Given the description of an element on the screen output the (x, y) to click on. 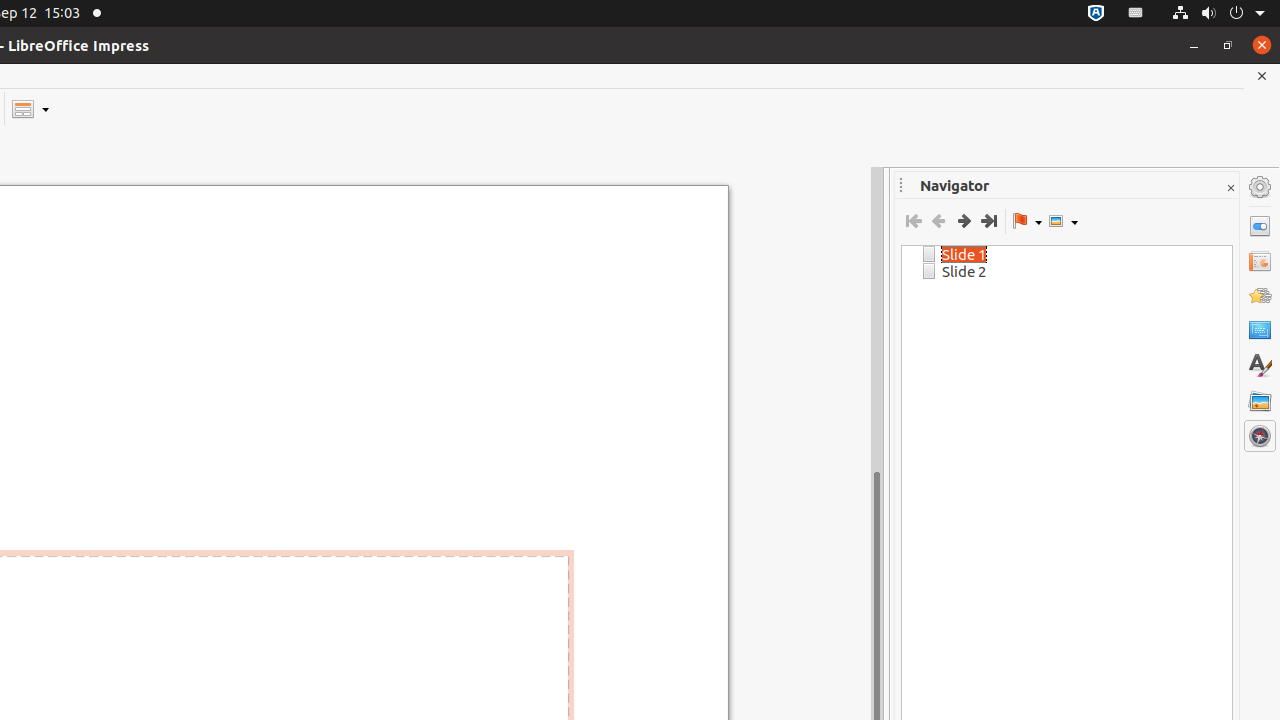
:1.21/StatusNotifierItem Element type: menu (1136, 13)
Master Slides Element type: radio-button (1260, 331)
Close Sidebar Deck Element type: push-button (1230, 188)
Previous Slide Element type: push-button (938, 221)
